Given the description of an element on the screen output the (x, y) to click on. 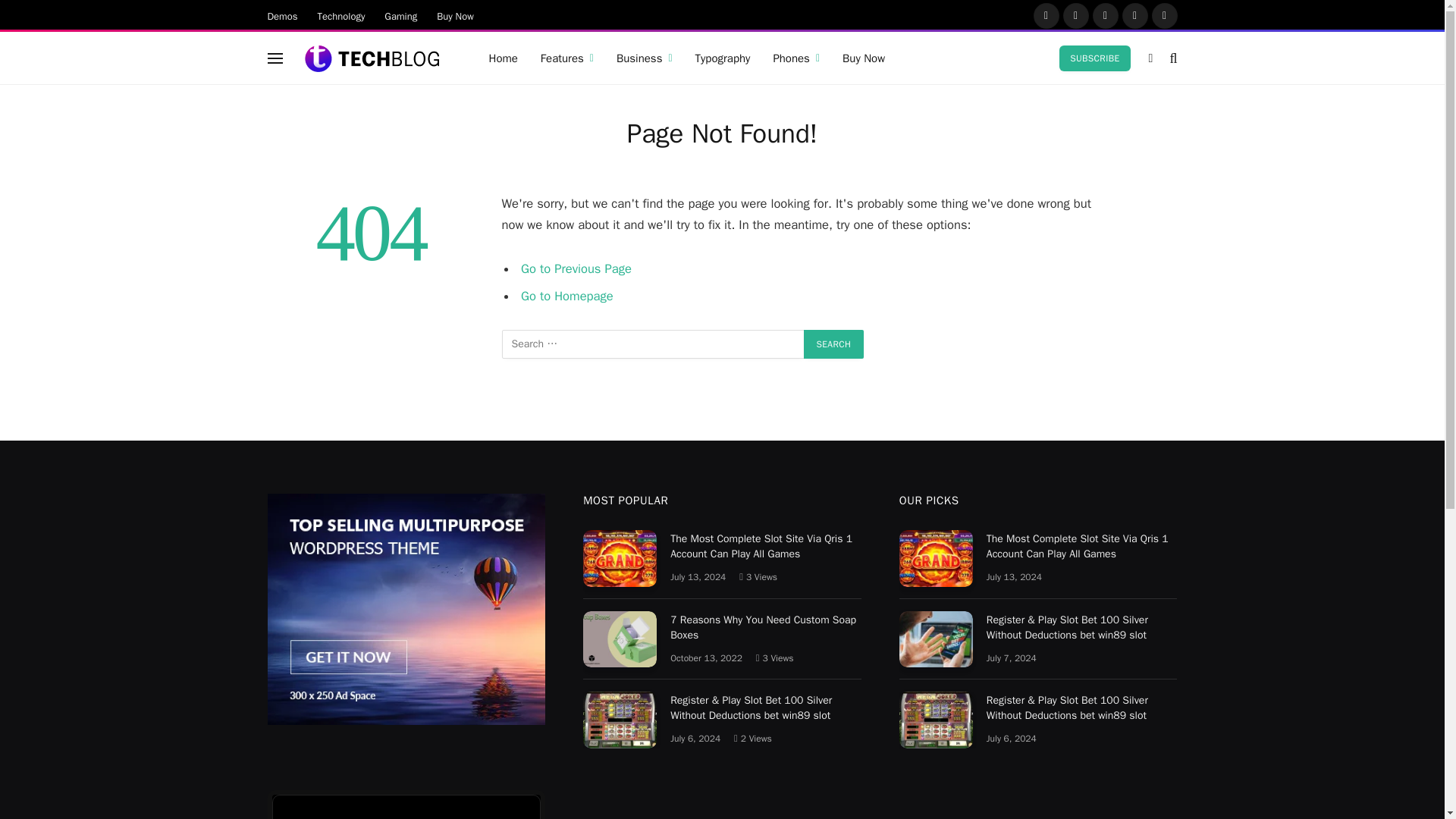
Search (833, 344)
Pinterest (1135, 15)
Gaming (400, 15)
Home (503, 57)
Buy Now (454, 15)
Demos (282, 15)
Vimeo (1163, 15)
Search (833, 344)
Features (567, 57)
Technology (341, 15)
Instagram (1105, 15)
Business (644, 57)
Kang Blogger (372, 57)
Facebook (1045, 15)
